Given the description of an element on the screen output the (x, y) to click on. 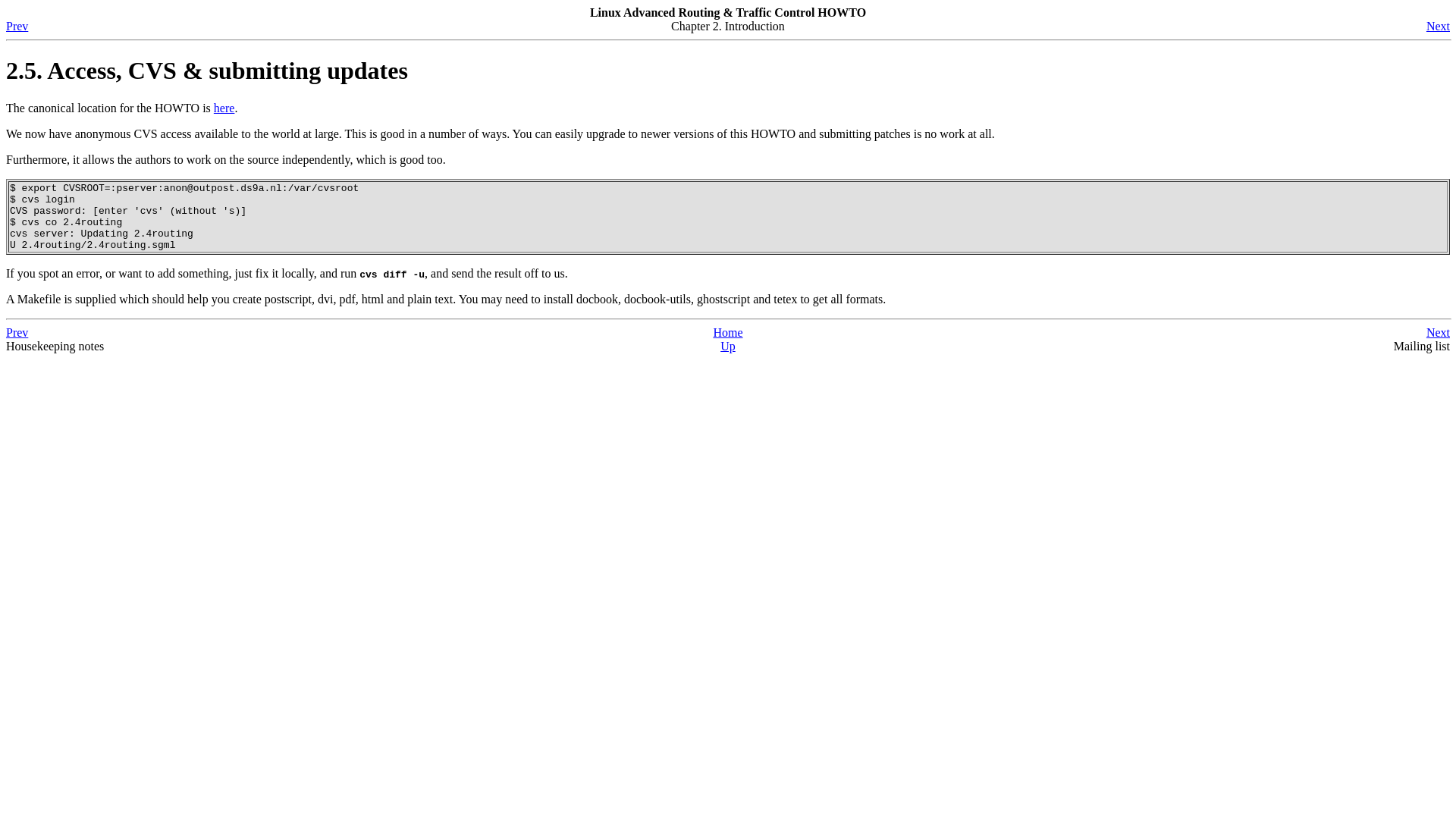
Prev (16, 25)
Next (1438, 332)
here (224, 107)
Up (727, 345)
Prev (16, 332)
Next (1438, 25)
Home (727, 332)
